Given the description of an element on the screen output the (x, y) to click on. 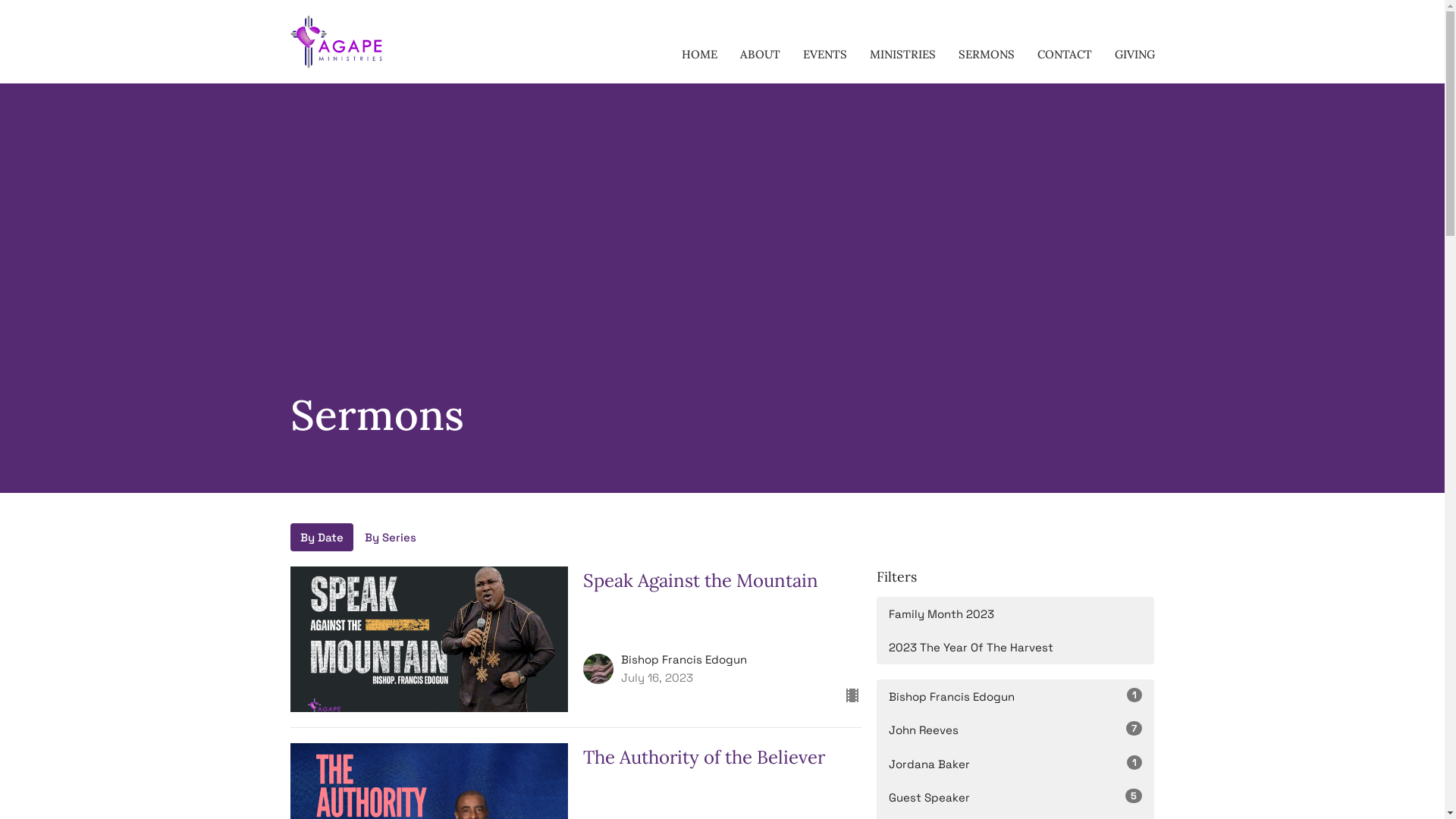
Bishop Francis Edogun
1 Element type: text (1015, 696)
ABOUT Element type: text (760, 53)
GIVING Element type: text (1134, 53)
SERMONS Element type: text (986, 53)
MINISTRIES Element type: text (902, 53)
By Series Element type: text (390, 537)
John Reeves
7 Element type: text (1015, 729)
Family Month 2023 Element type: text (1015, 613)
By Date Element type: text (320, 537)
Jordana Baker
1 Element type: text (1015, 763)
CONTACT Element type: text (1064, 53)
HOME Element type: text (698, 53)
EVENTS Element type: text (824, 53)
2023 The Year Of The Harvest Element type: text (1015, 647)
Guest Speaker
5 Element type: text (1015, 797)
